Given the description of an element on the screen output the (x, y) to click on. 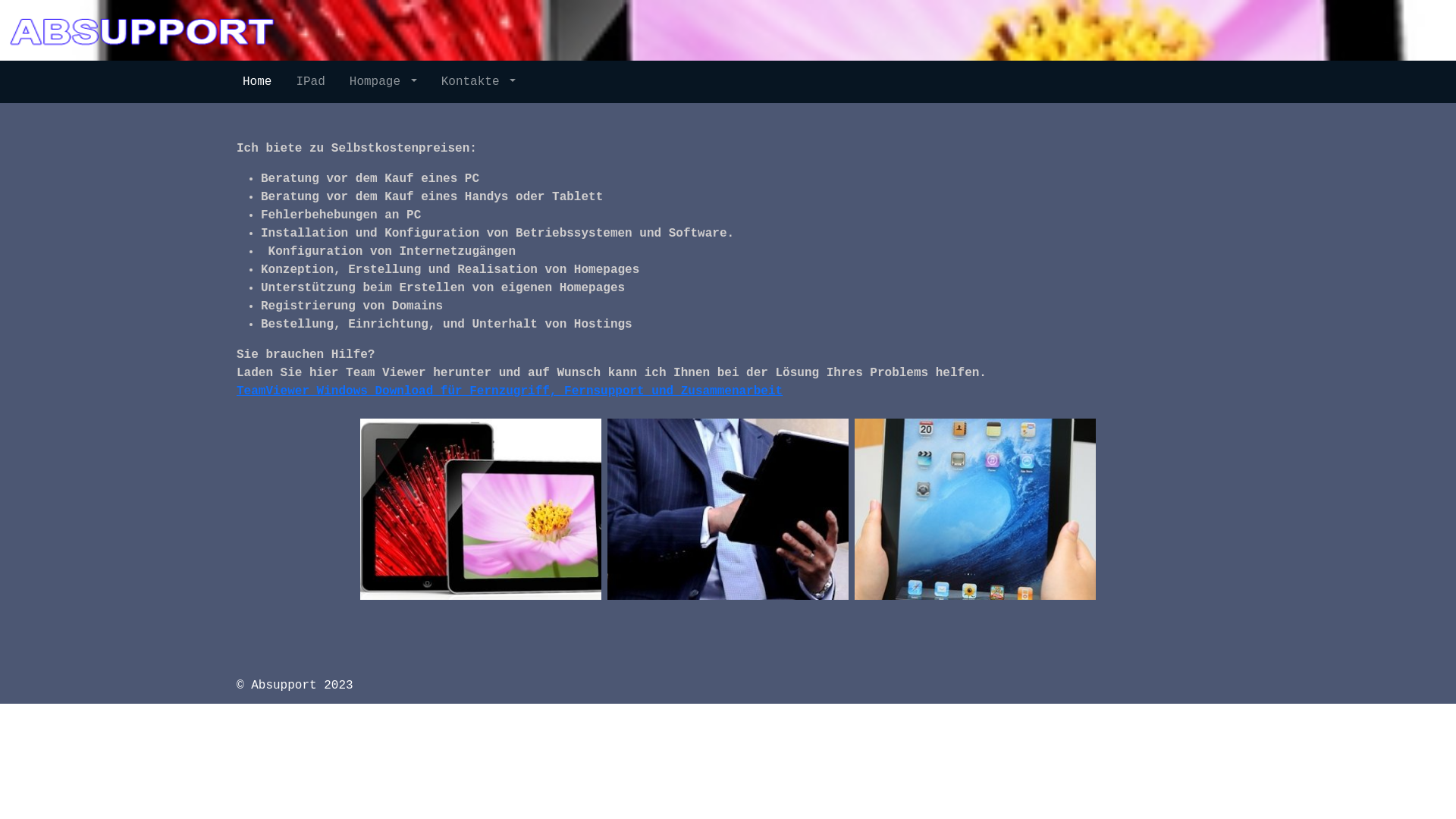
Kontakte Element type: text (478, 81)
Home Element type: text (256, 81)
Homepage Absupport Element type: hover (144, 29)
IPad Element type: text (309, 81)
Hompage Element type: text (383, 81)
